Given the description of an element on the screen output the (x, y) to click on. 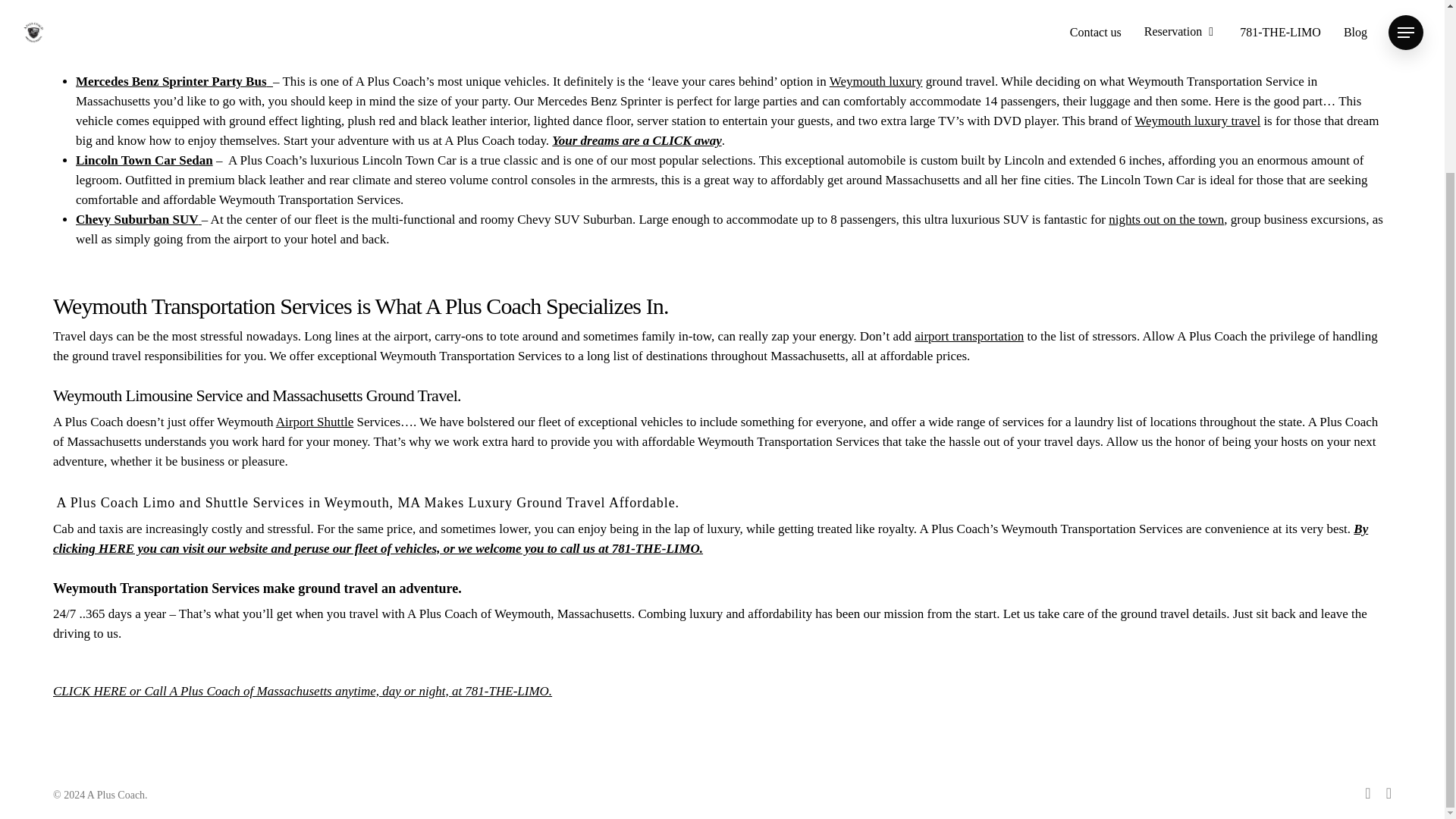
airport transportation (968, 335)
Chevy Suburban SUV  (138, 219)
Mercedes Benz Sprinter Party Bus   (174, 81)
Weymouth luxury (876, 81)
Your dreams are a CLICK away (635, 140)
Airport Shuttle (314, 421)
Lincoln Town Car Sedan (143, 160)
nights out on the town (1166, 219)
Weymouth luxury travel (1197, 120)
